Given the description of an element on the screen output the (x, y) to click on. 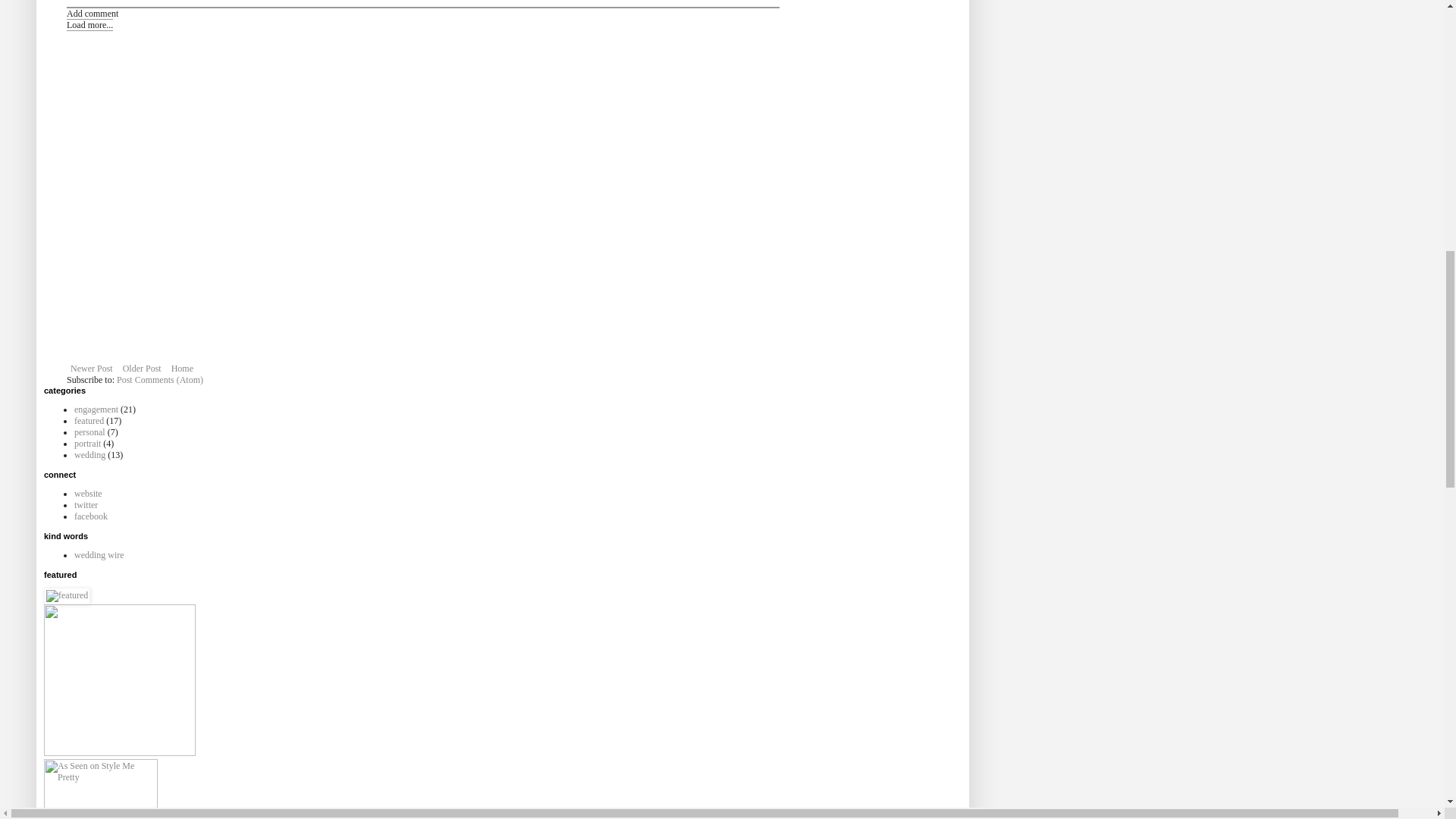
Newer Post (91, 368)
Older Post (142, 368)
As Seen on Style Me Pretty (100, 789)
Home (181, 368)
Newer Post (91, 368)
personal (89, 431)
Load more... (89, 24)
Add comment (91, 13)
engagement (95, 409)
Older Post (142, 368)
featured (88, 420)
